Given the description of an element on the screen output the (x, y) to click on. 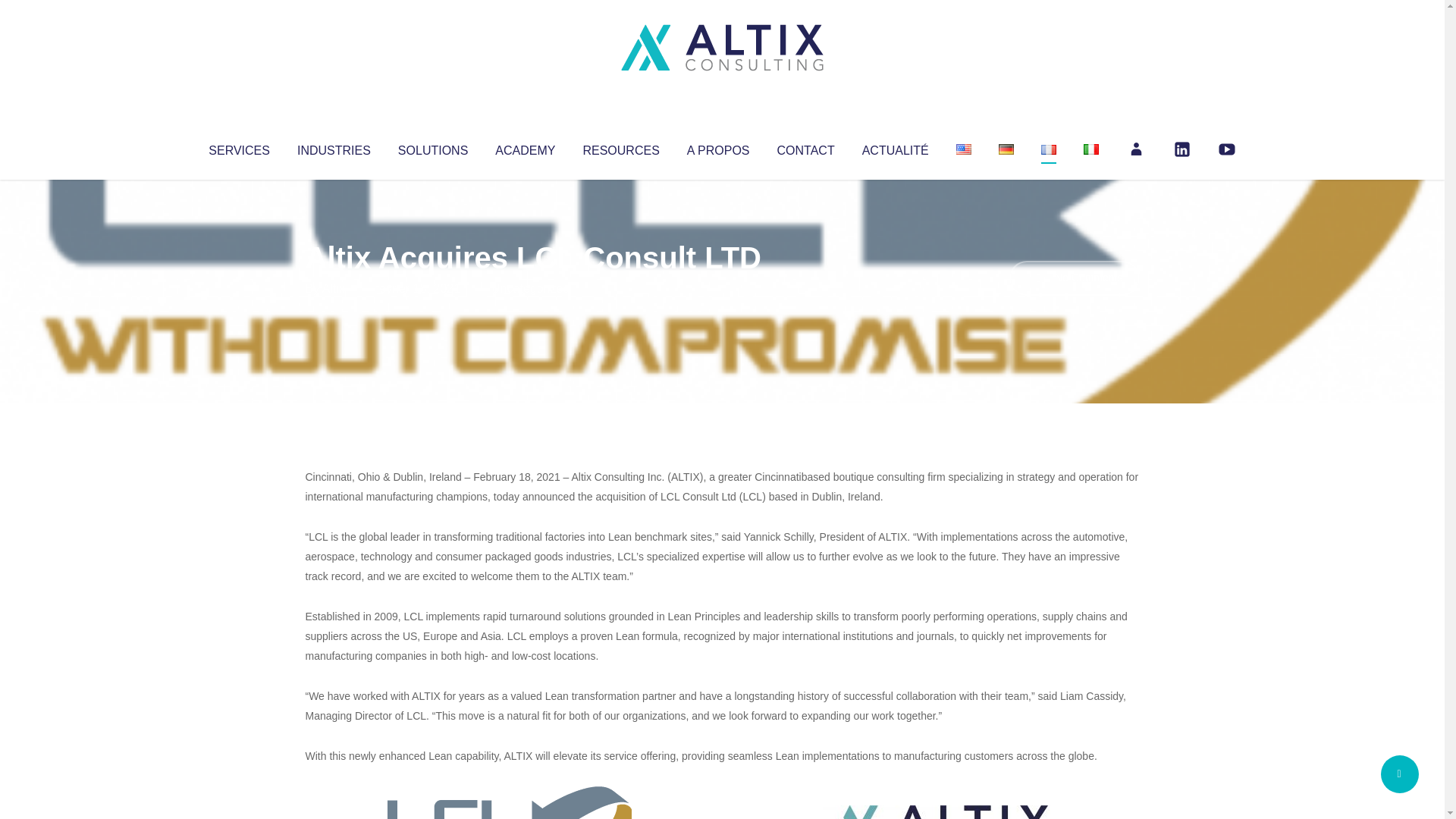
SERVICES (238, 146)
INDUSTRIES (334, 146)
Altix (333, 287)
RESOURCES (620, 146)
ACADEMY (524, 146)
Uncategorized (530, 287)
Articles par Altix (333, 287)
SOLUTIONS (432, 146)
No Comments (1073, 278)
A PROPOS (718, 146)
